Given the description of an element on the screen output the (x, y) to click on. 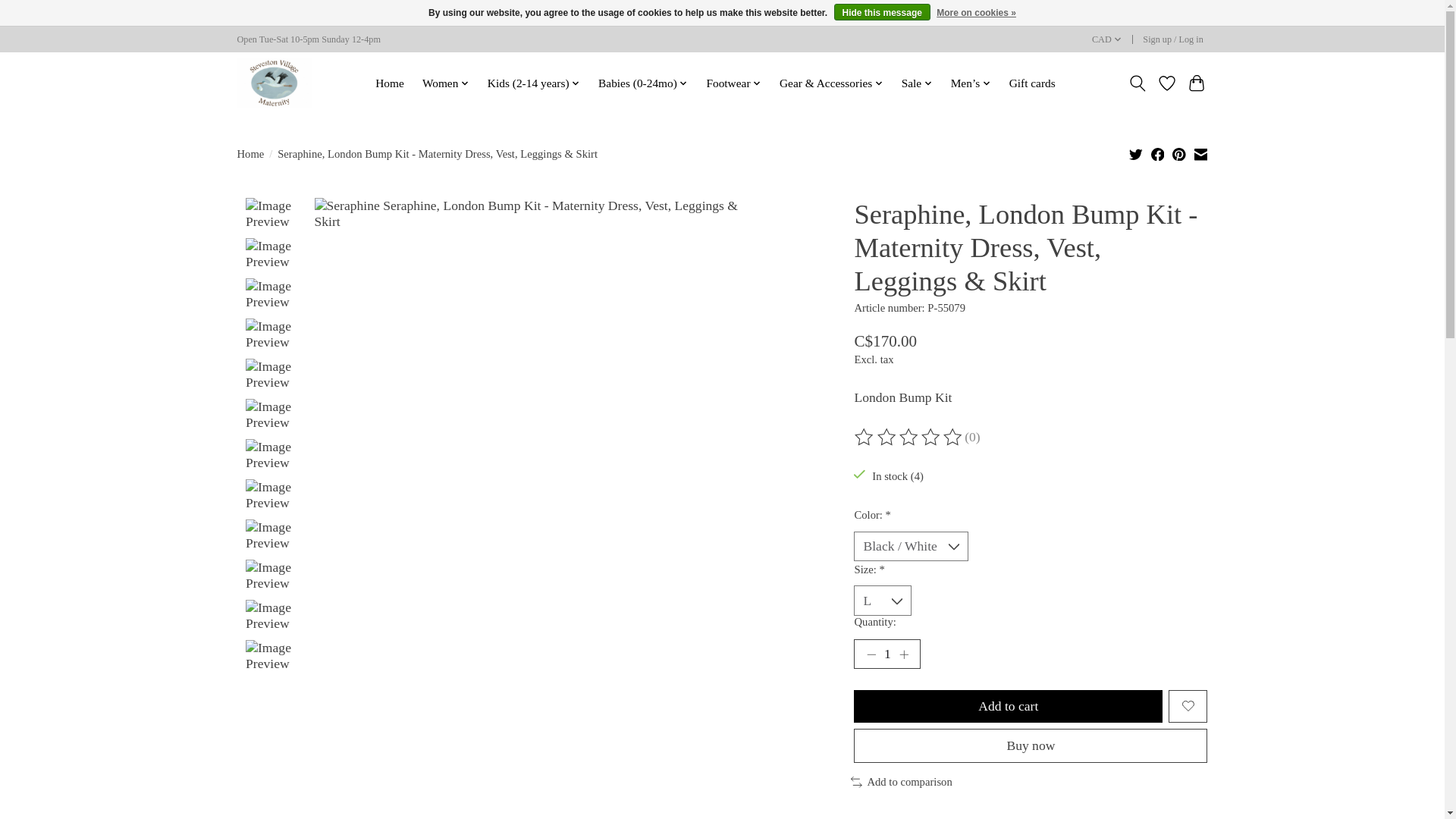
Women (445, 83)
Steveston Village Maternity (273, 82)
1 (886, 654)
Home (389, 83)
CAD (1106, 39)
My account (1173, 39)
